Given the description of an element on the screen output the (x, y) to click on. 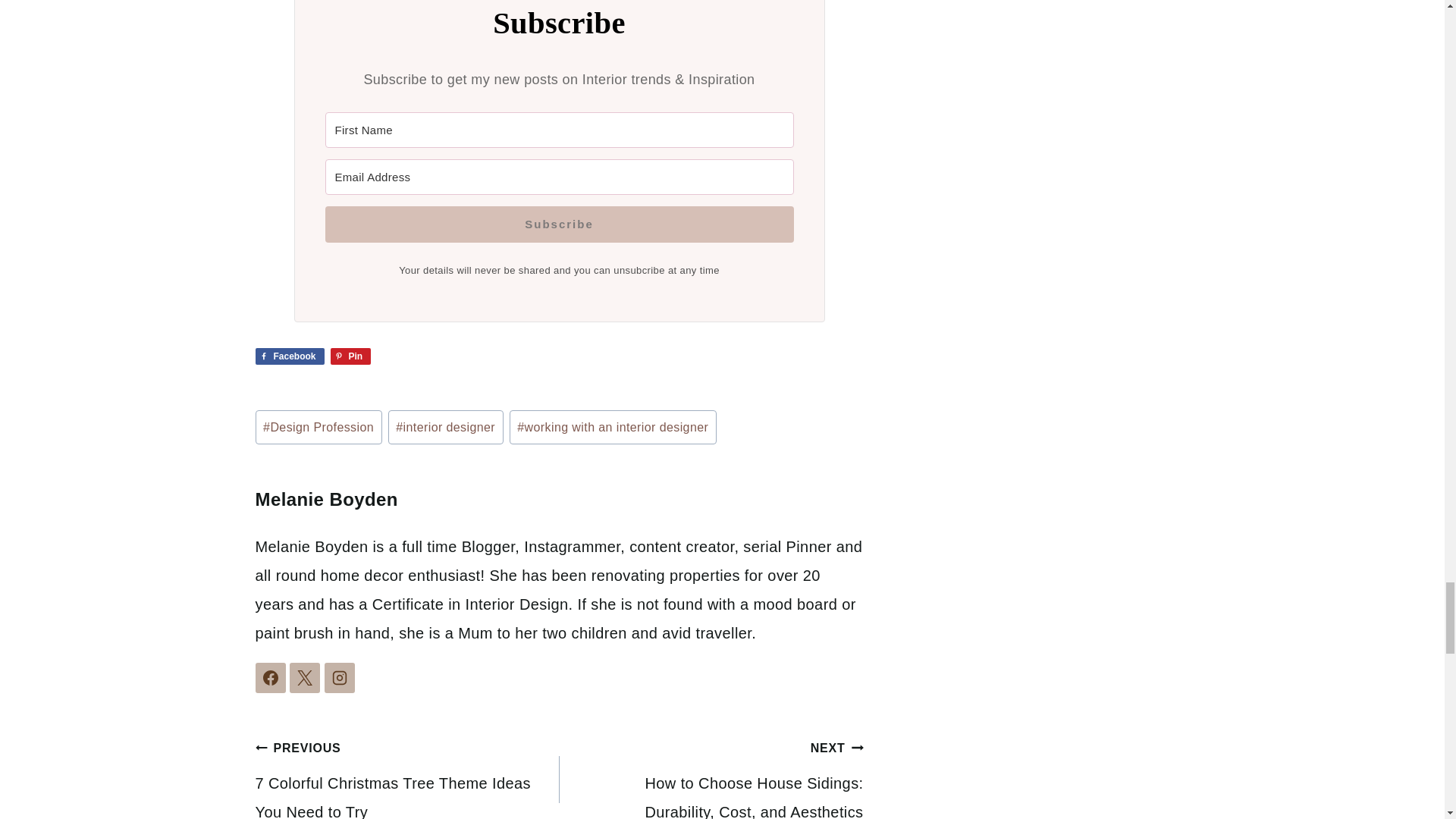
Follow Melanie Boyden on Facebook (269, 677)
Posts by Melanie Boyden (325, 498)
interior designer (445, 427)
Share on Facebook (288, 356)
Design Profession (317, 427)
Follow Melanie Boyden on X formerly Twitter (304, 677)
working with an interior designer (612, 427)
Share on Pinterest (350, 356)
Follow Melanie Boyden on Instagram (339, 677)
